Given the description of an element on the screen output the (x, y) to click on. 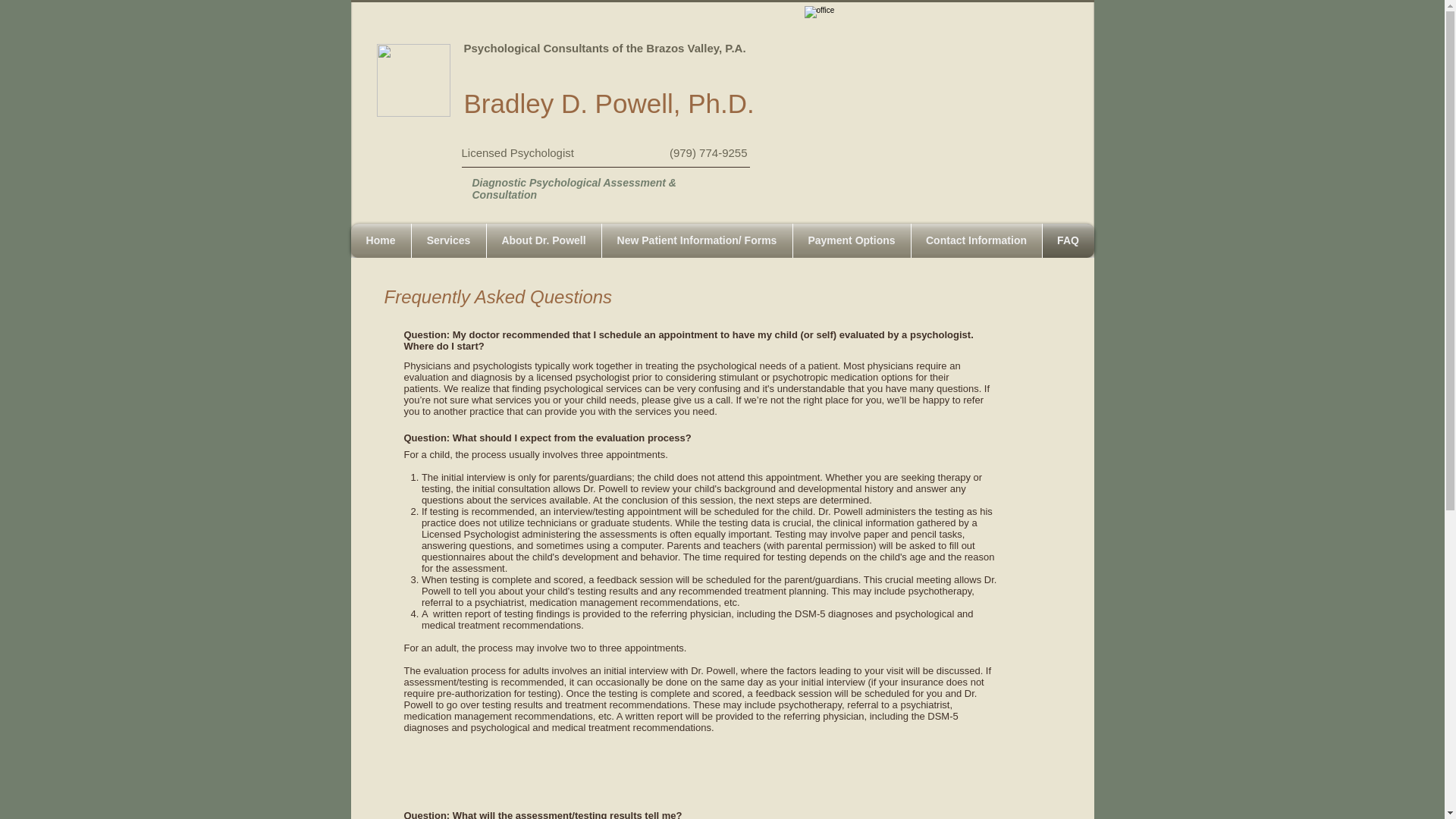
Contact Information (976, 240)
About Dr. Powell (543, 240)
Home (380, 240)
FAQ (1067, 240)
Payment Options (852, 240)
Services (447, 240)
